Given the description of an element on the screen output the (x, y) to click on. 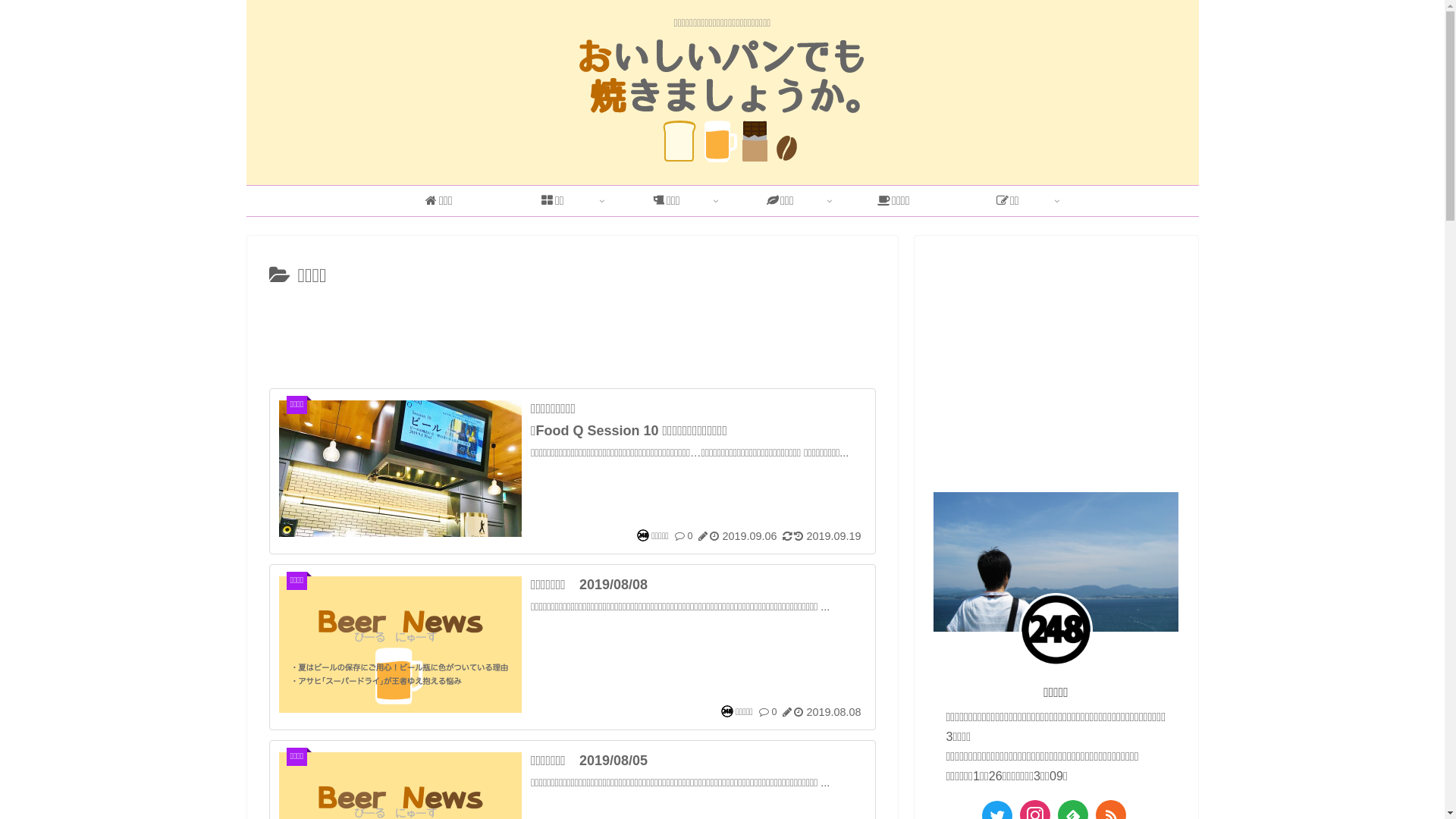
Advertisement Element type: hover (1055, 356)
Advertisement Element type: hover (571, 335)
